Given the description of an element on the screen output the (x, y) to click on. 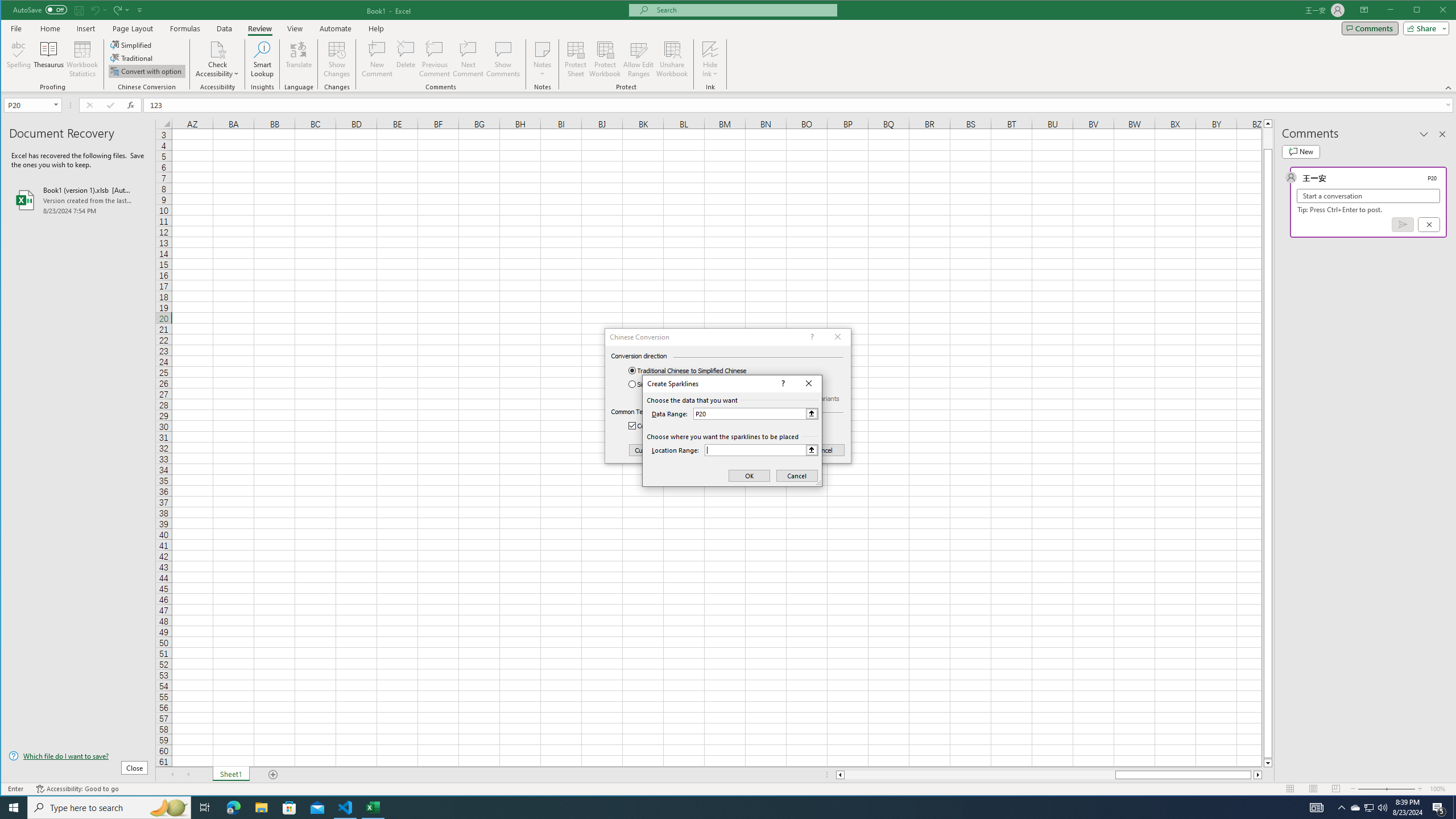
Smart Lookup (1368, 807)
Task View (261, 59)
Microsoft Store (204, 807)
Context help (1355, 807)
